Given the description of an element on the screen output the (x, y) to click on. 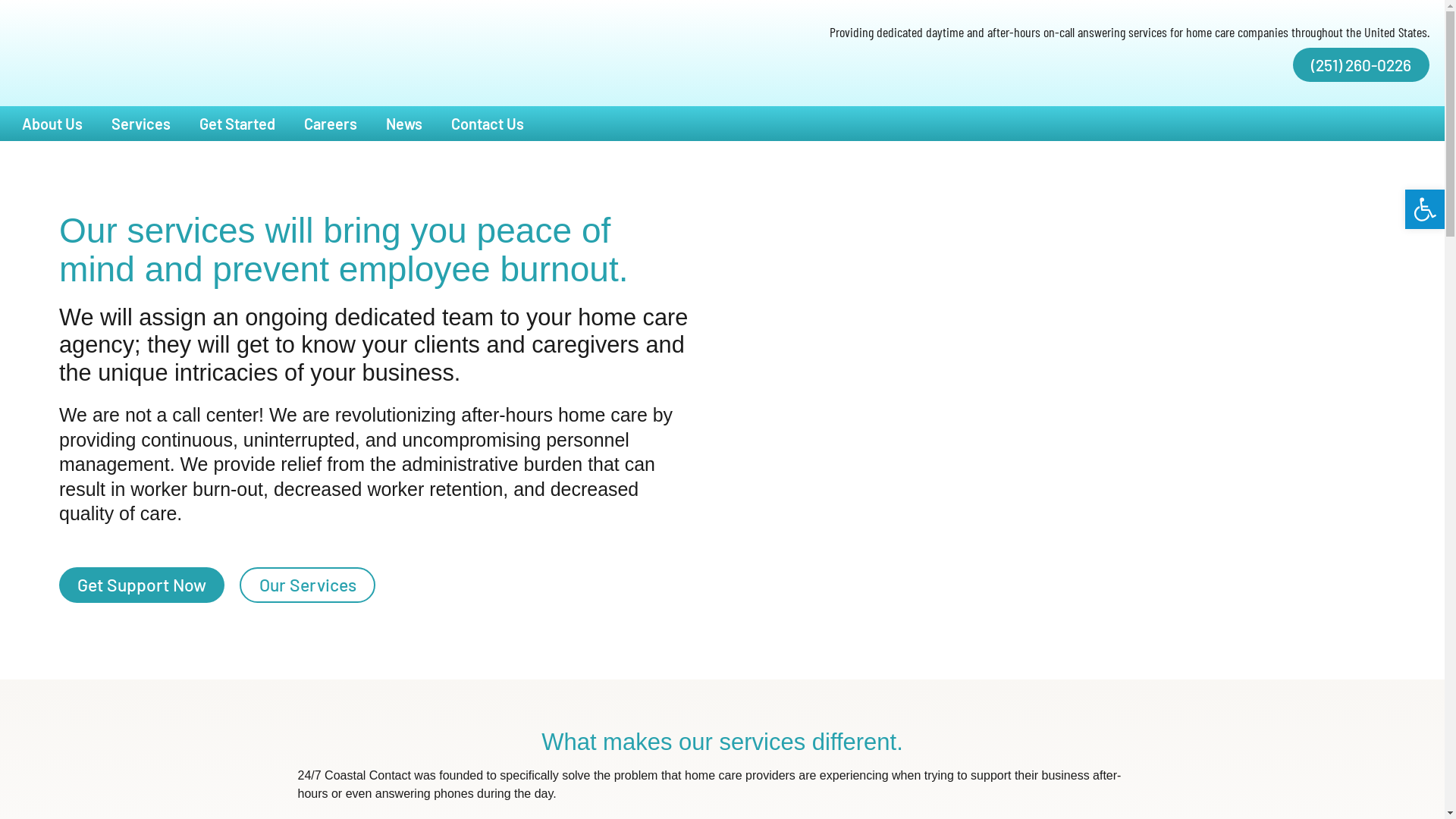
Our Services Element type: text (307, 584)
Get Support Now Element type: text (141, 584)
Services Element type: text (141, 123)
(251) 260-0226 Element type: text (1360, 64)
News Element type: text (403, 123)
Get Started Element type: text (237, 123)
About Us Element type: text (52, 123)
Contact Us Element type: text (487, 123)
Open toolbar
Accessibility Tools Element type: text (1424, 209)
Careers Element type: text (330, 123)
